Given the description of an element on the screen output the (x, y) to click on. 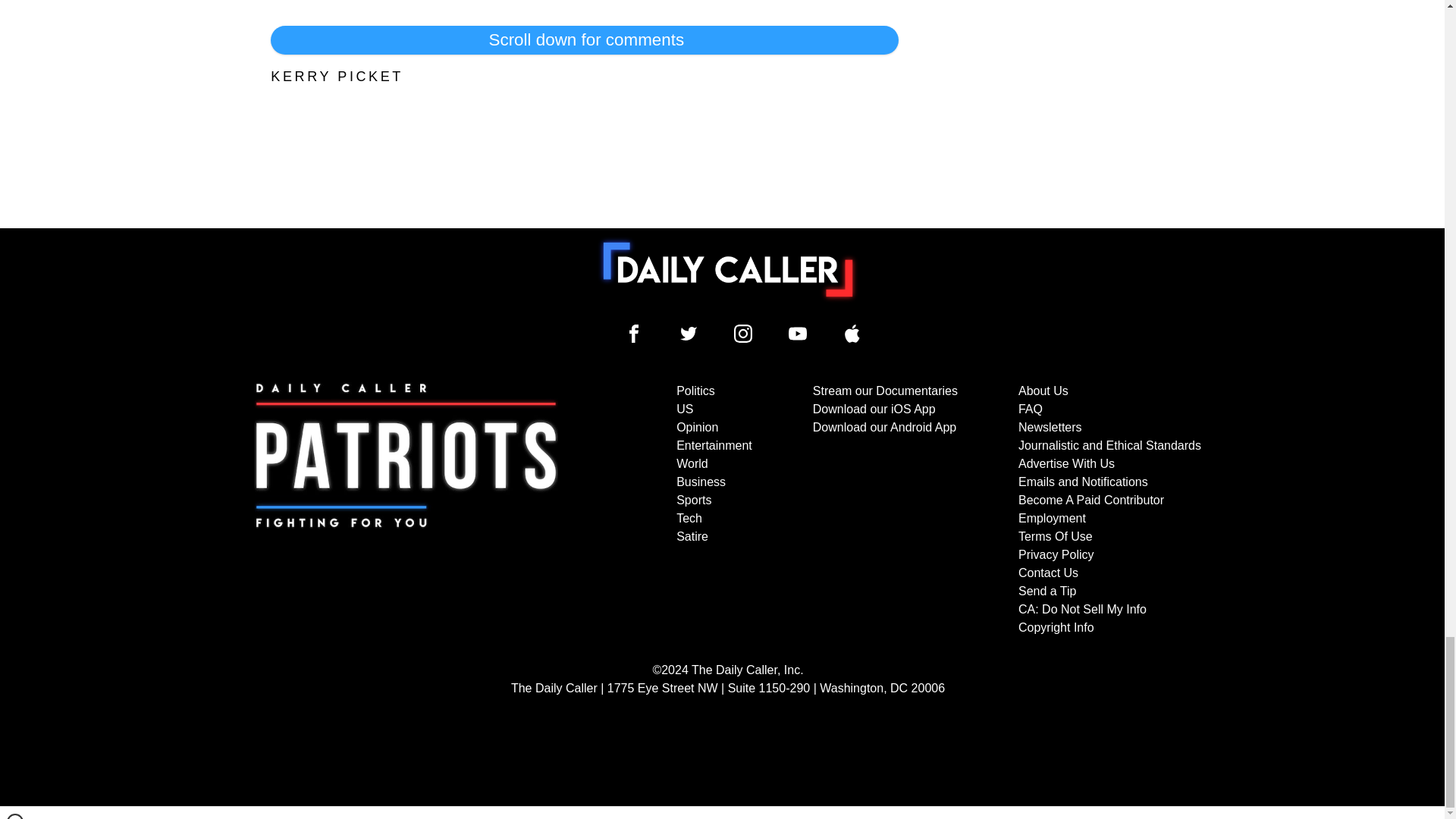
Daily Caller Instagram (742, 333)
Daily Caller YouTube (852, 333)
Daily Caller YouTube (797, 333)
Daily Caller Facebook (633, 333)
Scroll down for comments (584, 39)
To home page (727, 269)
Daily Caller Twitter (688, 333)
Subscribe to The Daily Caller (405, 509)
